Given the description of an element on the screen output the (x, y) to click on. 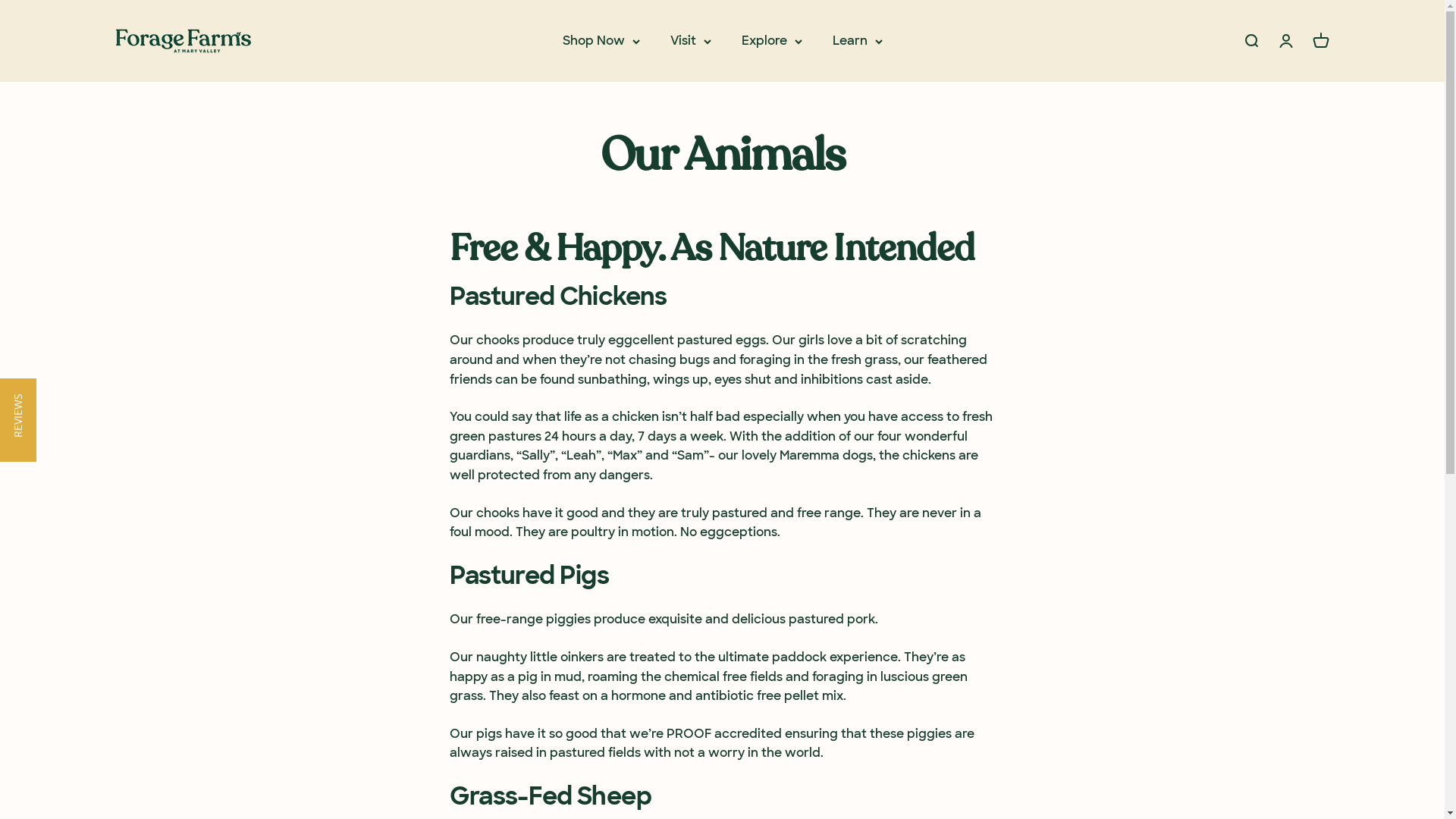
Open cart
0 Element type: text (1319, 40)
Forage Farms Element type: text (183, 40)
Open search Element type: text (1250, 40)
Open account page Element type: text (1285, 40)
